Given the description of an element on the screen output the (x, y) to click on. 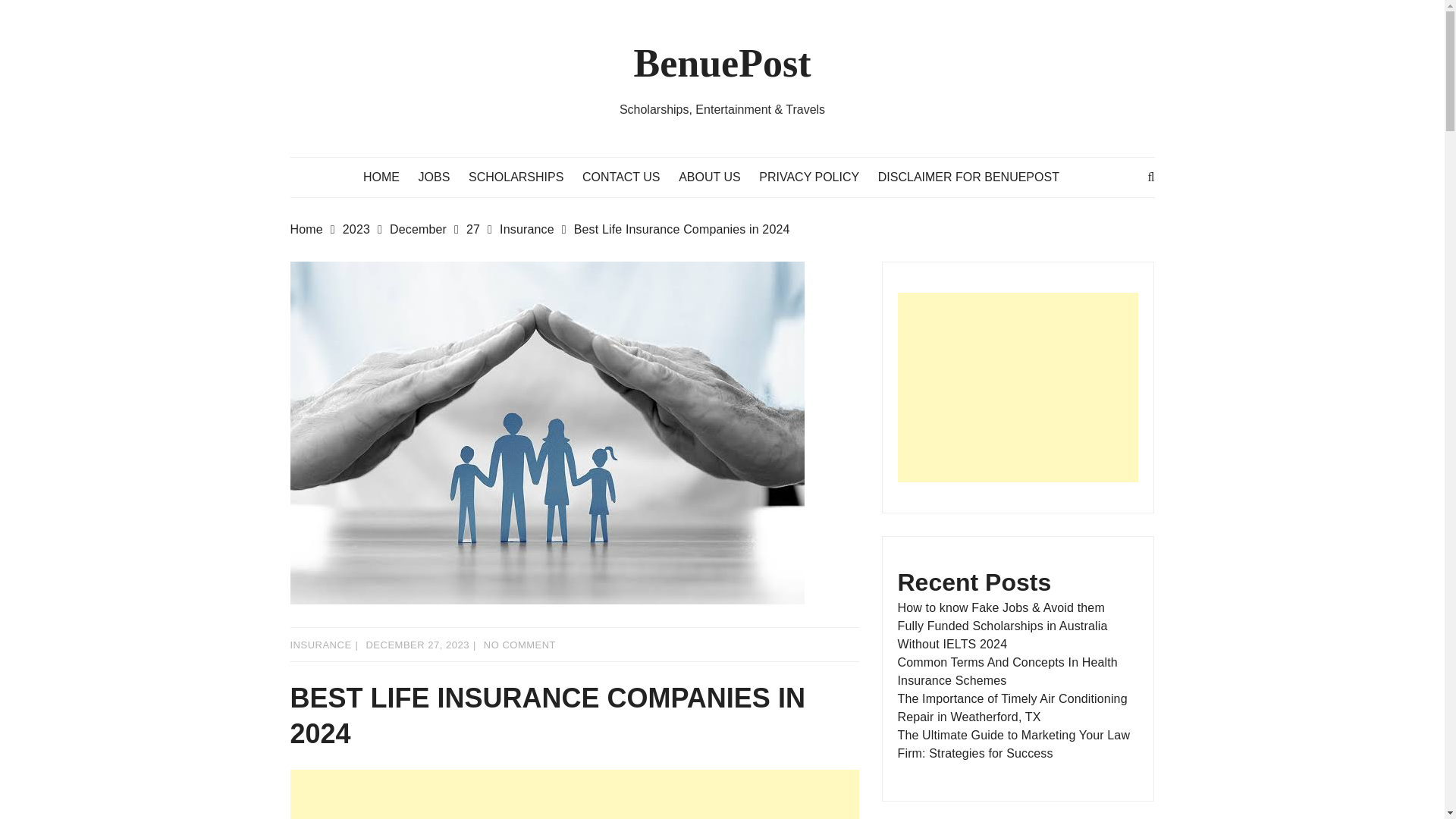
Home (315, 229)
2023 (366, 229)
Insurance (536, 229)
JOBS (442, 177)
27 (482, 229)
PRIVACY POLICY (816, 177)
Advertisement (1018, 387)
DECEMBER 27, 2023 (416, 644)
INSURANCE (319, 644)
December (427, 229)
